Given the description of an element on the screen output the (x, y) to click on. 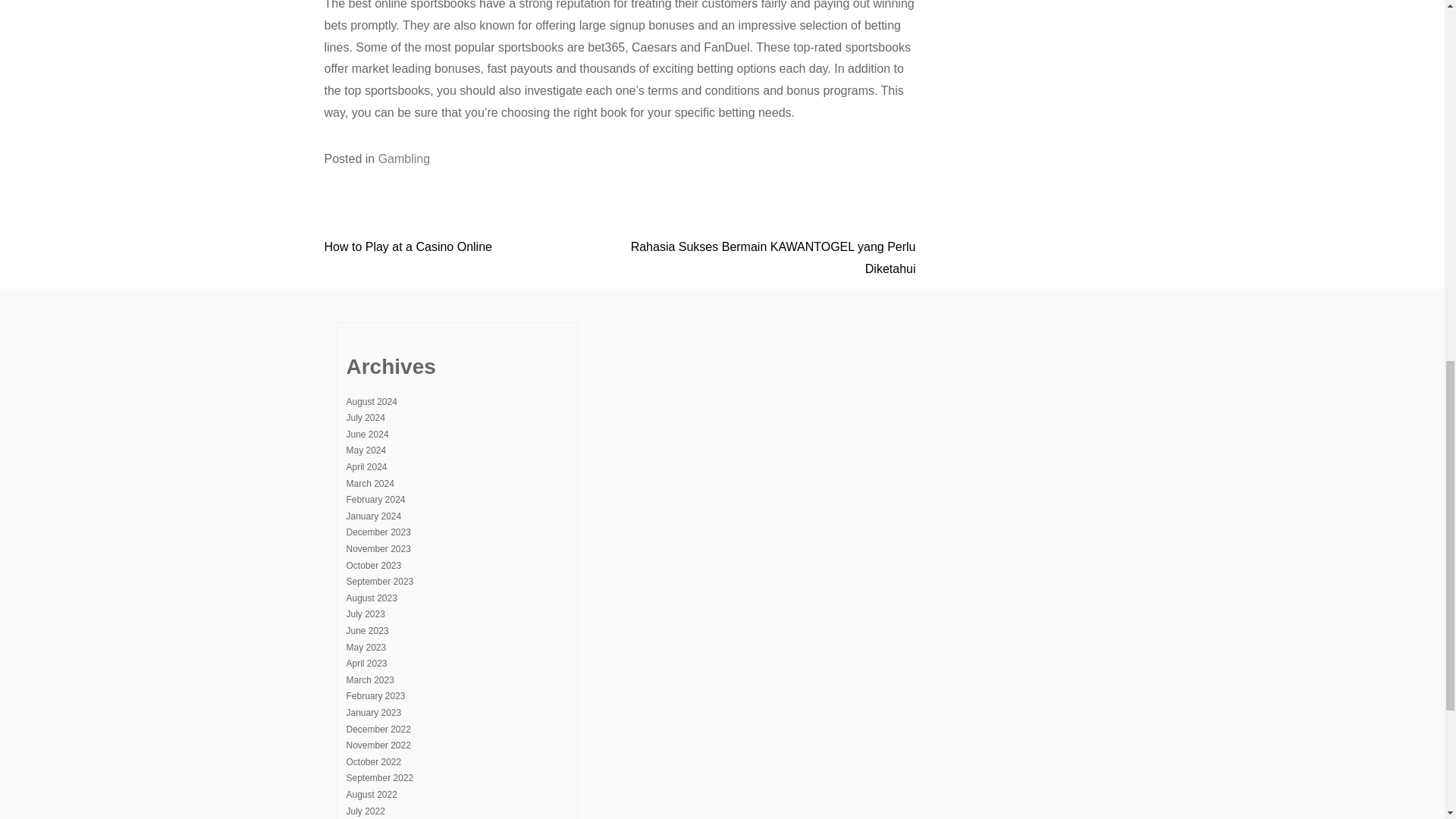
July 2024 (365, 417)
October 2022 (373, 761)
August 2024 (371, 401)
December 2022 (378, 728)
May 2024 (365, 450)
May 2023 (365, 647)
October 2023 (373, 565)
February 2023 (375, 696)
March 2023 (369, 679)
November 2022 (378, 745)
August 2023 (371, 597)
December 2023 (378, 532)
Gambling (403, 158)
March 2024 (369, 483)
September 2023 (379, 581)
